Given the description of an element on the screen output the (x, y) to click on. 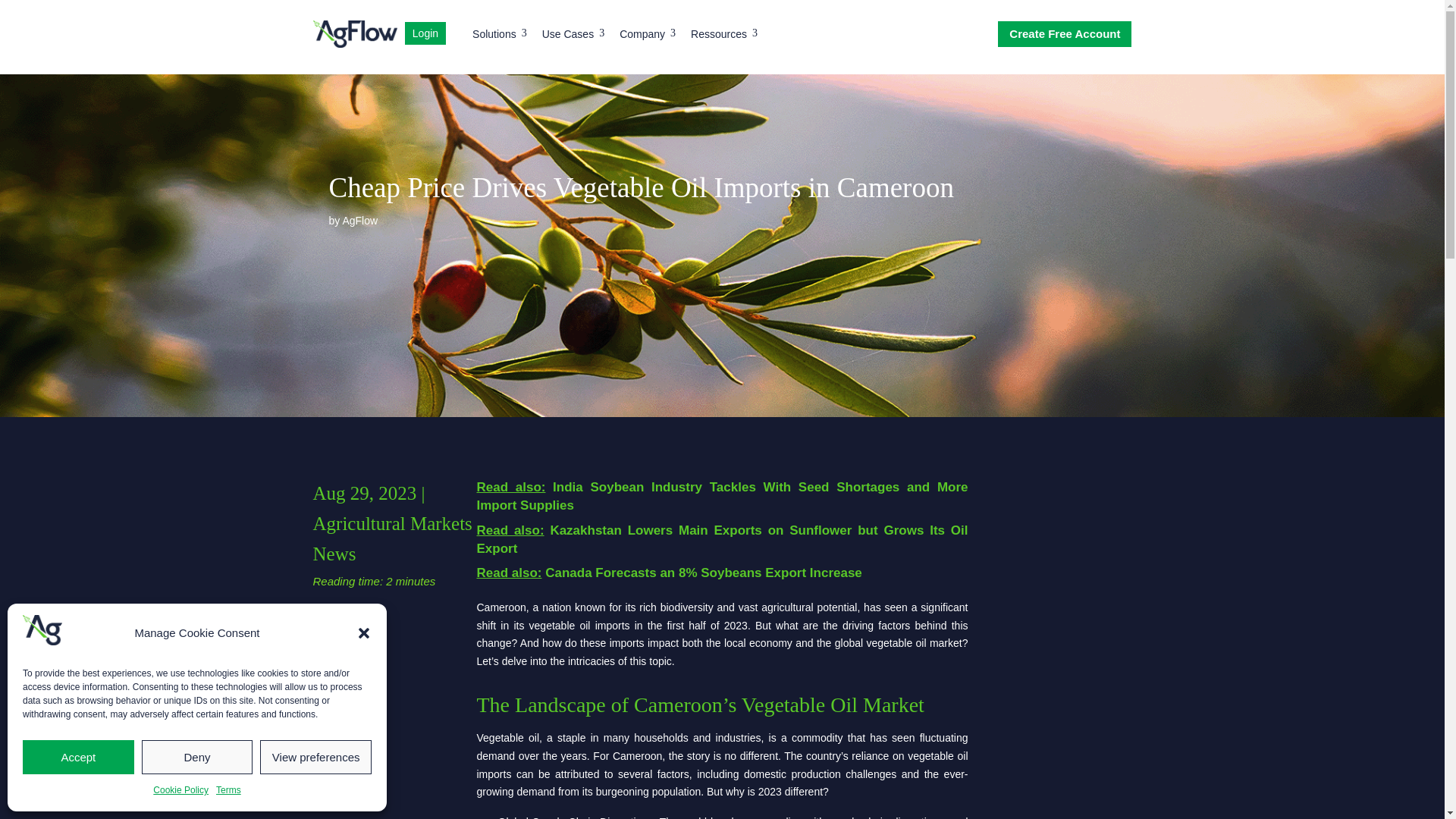
Deny (499, 36)
Login (197, 756)
Terms (723, 36)
Posts by AgFlow (424, 36)
View preferences (647, 36)
AgFlow (228, 791)
Accept (572, 36)
Cookie Policy (359, 220)
